Given the description of an element on the screen output the (x, y) to click on. 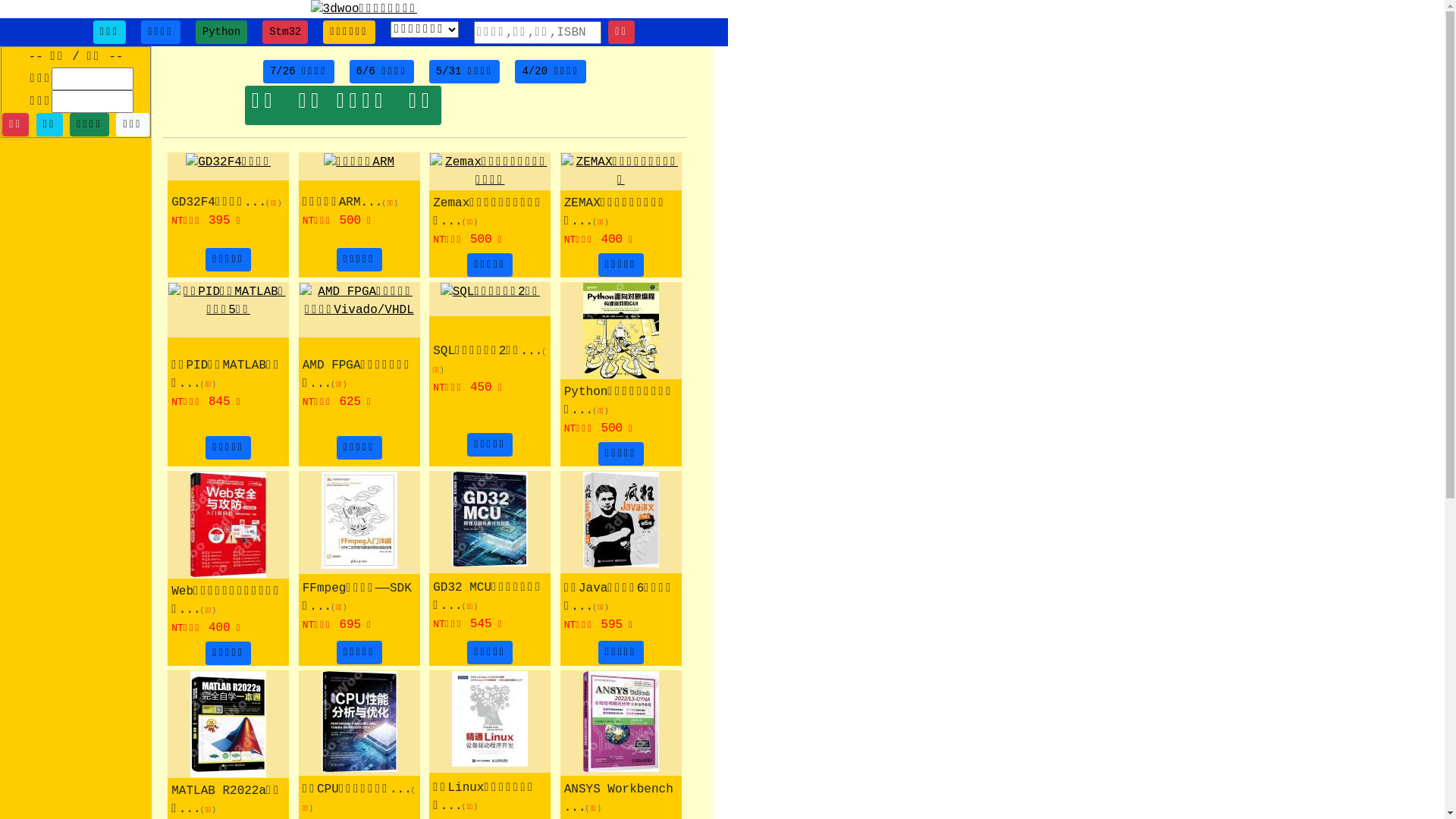
Python Element type: text (221, 31)
Stm32 Element type: text (284, 31)
Advertisement Element type: hover (75, 327)
